Given the description of an element on the screen output the (x, y) to click on. 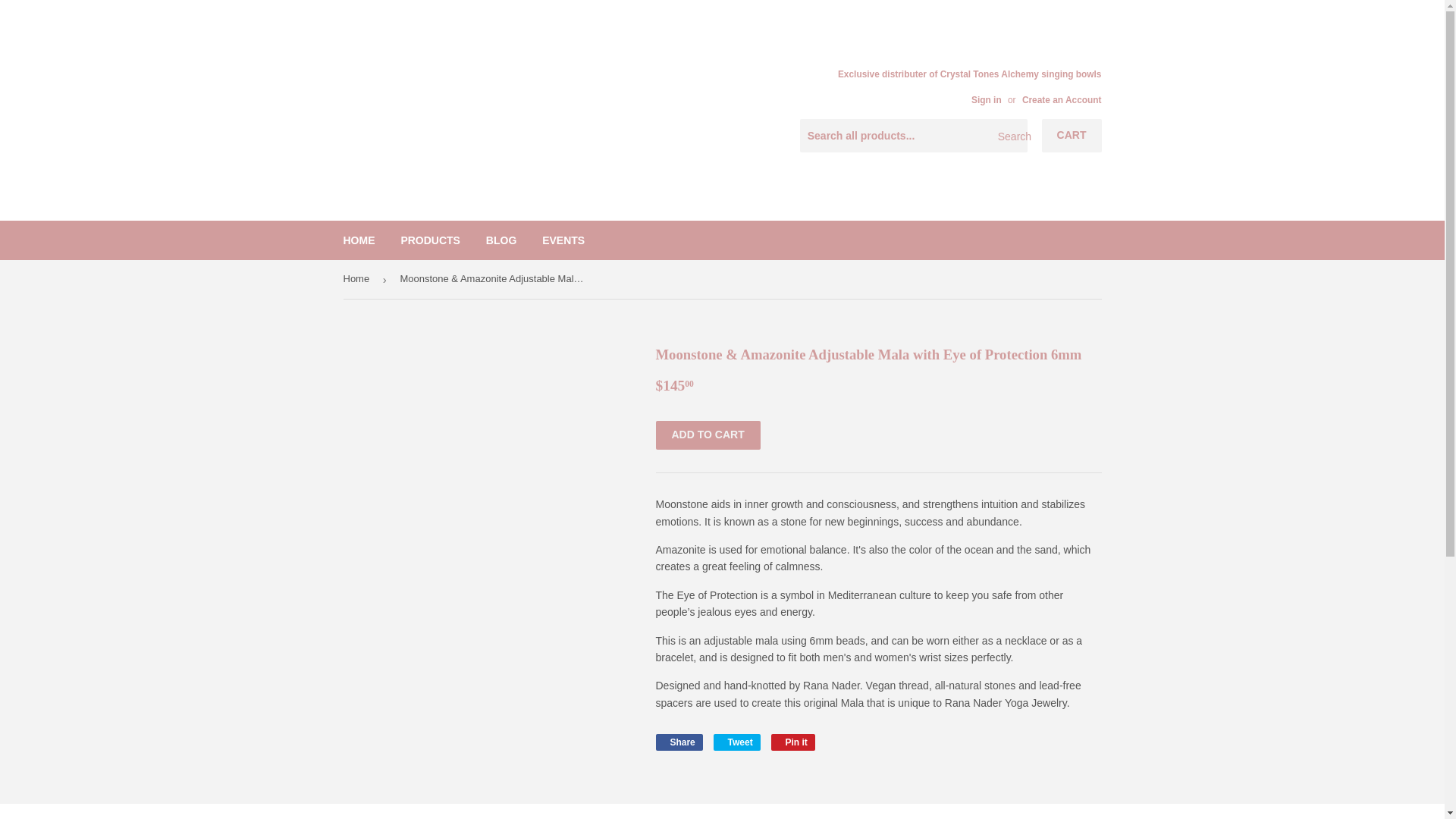
Tweet on Twitter (736, 742)
HOME (359, 240)
Share on Facebook (678, 742)
Pin on Pinterest (793, 742)
ADD TO CART (707, 434)
Search (1009, 136)
EVENTS (736, 742)
PRODUCTS (563, 240)
